Given the description of an element on the screen output the (x, y) to click on. 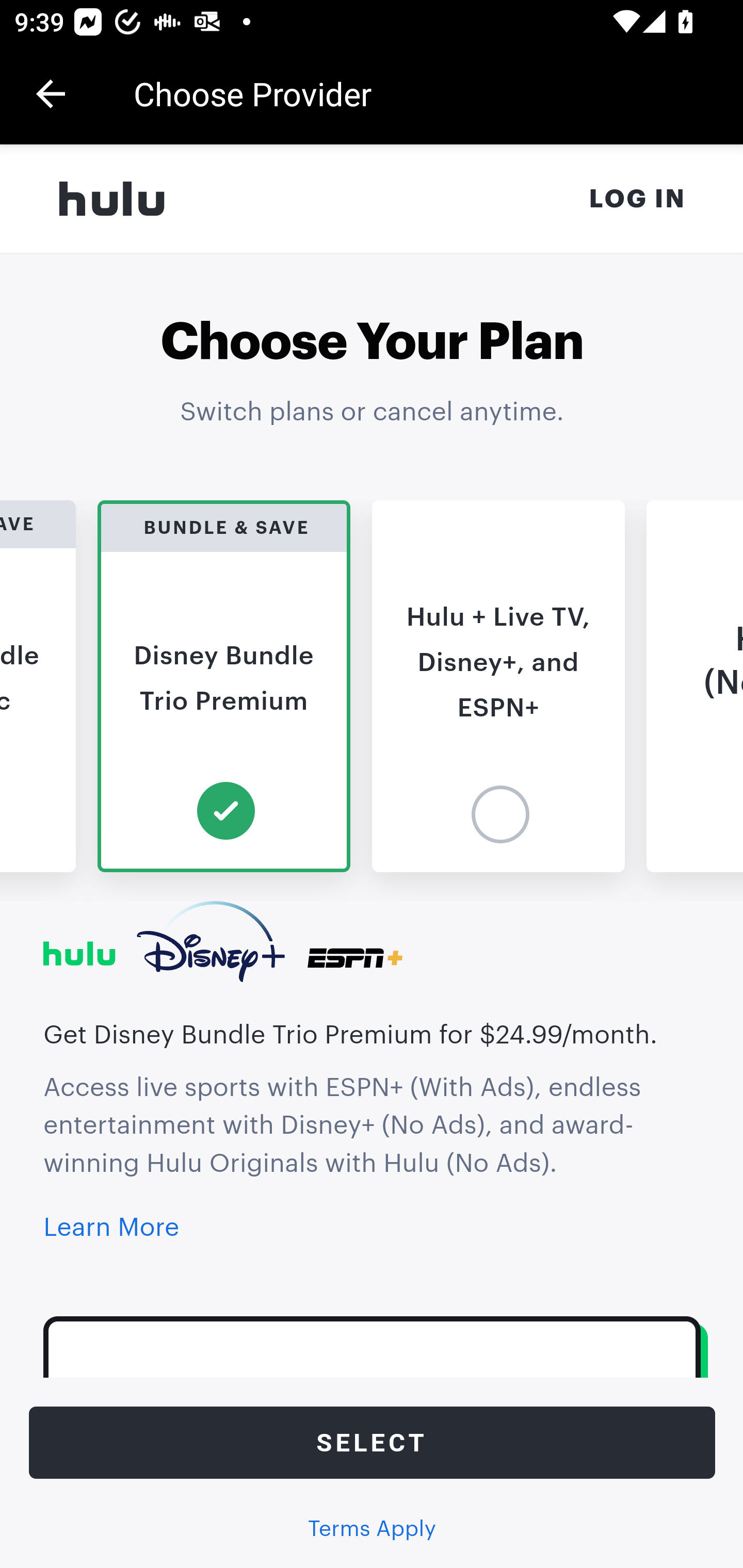
Navigate up (50, 93)
LOG IN (638, 199)
BUNDLE & SAVE Disney Bundle Trio Premium (224, 685)
Hulu + Live TV, Disney+, and ESPN+ (499, 685)
Learn More (111, 1228)
Select Disney Bundle Trio Premium for $24.99/month (372, 1443)
Terms Apply (371, 1528)
